Given the description of an element on the screen output the (x, y) to click on. 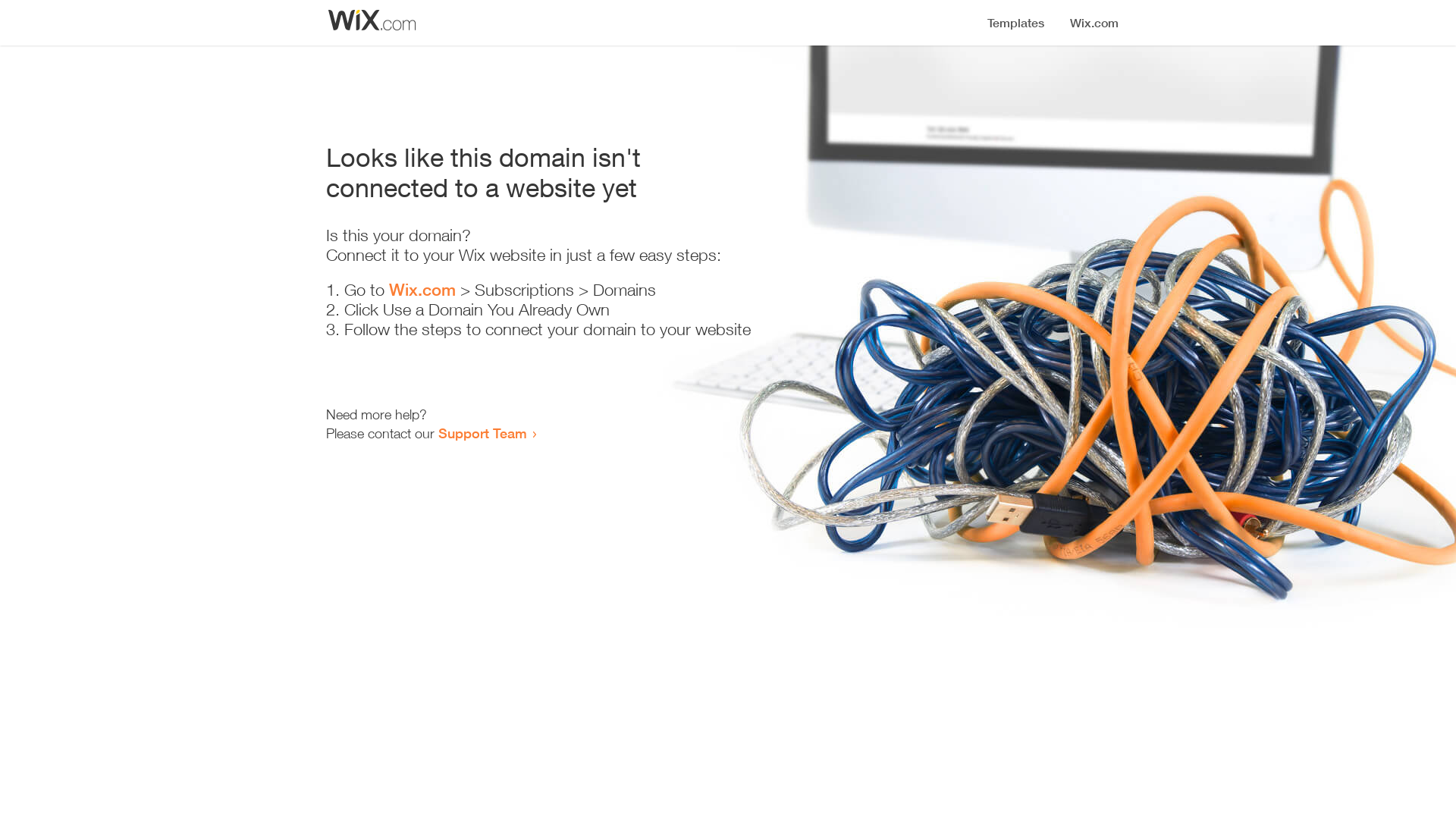
Wix.com Element type: text (422, 289)
Support Team Element type: text (482, 432)
